Given the description of an element on the screen output the (x, y) to click on. 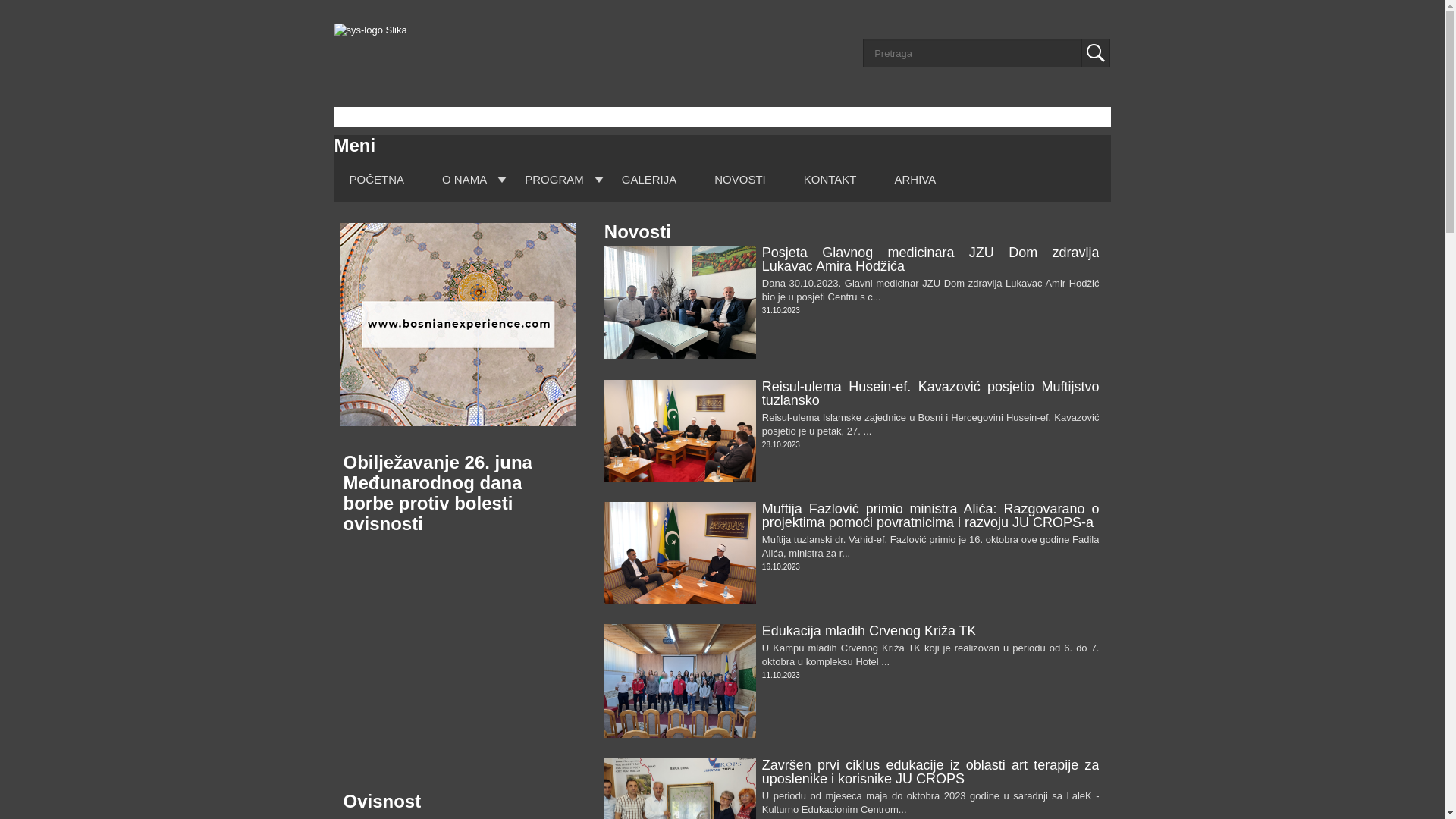
O NAMA Element type: text (464, 178)
ARHIVA Element type: text (915, 178)
PROGRAM Element type: text (554, 178)
KONTAKT Element type: text (830, 178)
GALERIJA Element type: text (649, 178)
NOVOSTI Element type: text (739, 178)
